Given the description of an element on the screen output the (x, y) to click on. 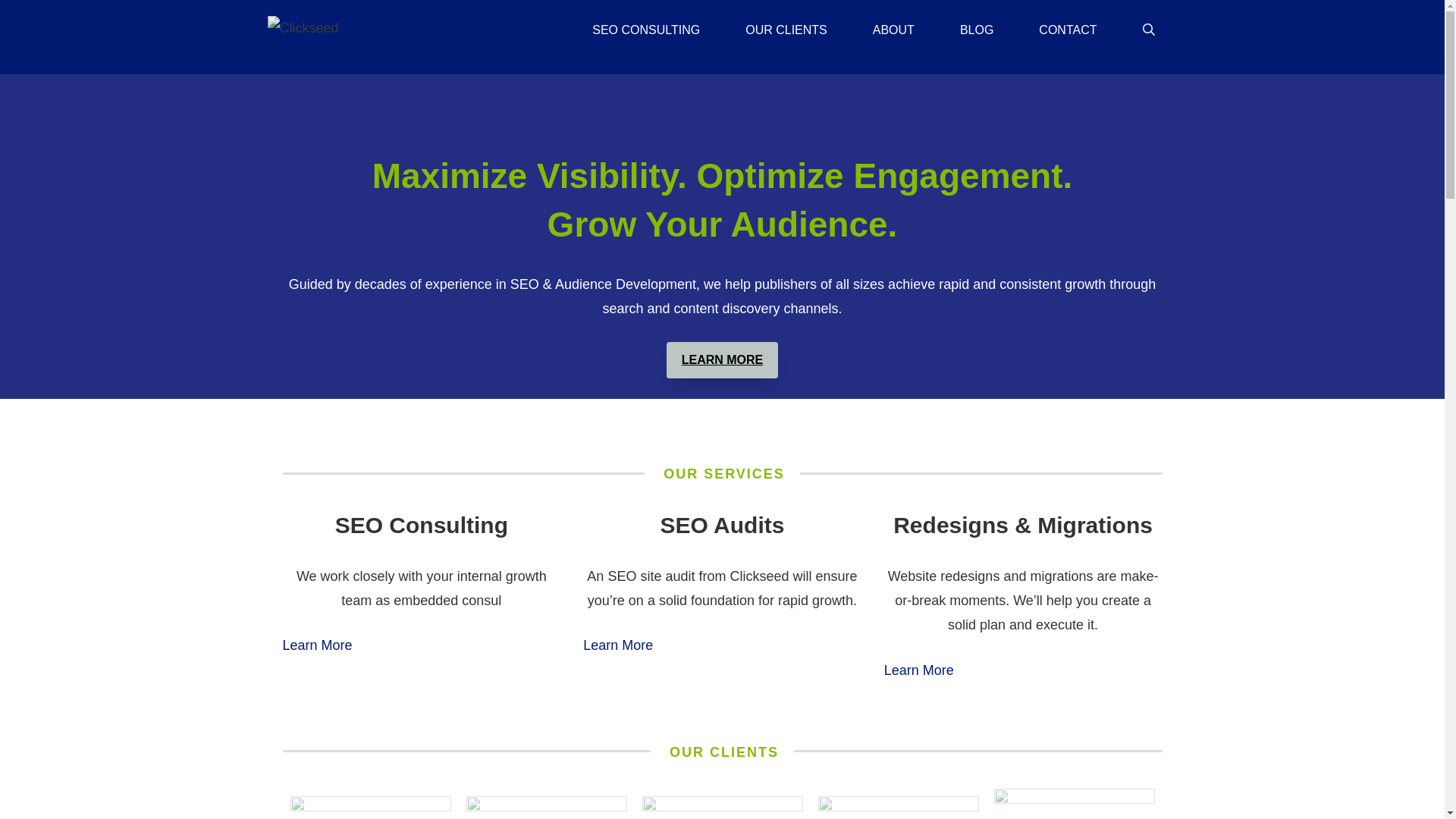
SEO CONSULTING (645, 30)
OUR CLIENTS (786, 30)
ABOUT (893, 30)
BLOG (976, 30)
LEARN MORE (722, 360)
CONTACT (1067, 30)
Learn More (918, 670)
Learn More (617, 645)
Learn More (317, 645)
